Given the description of an element on the screen output the (x, y) to click on. 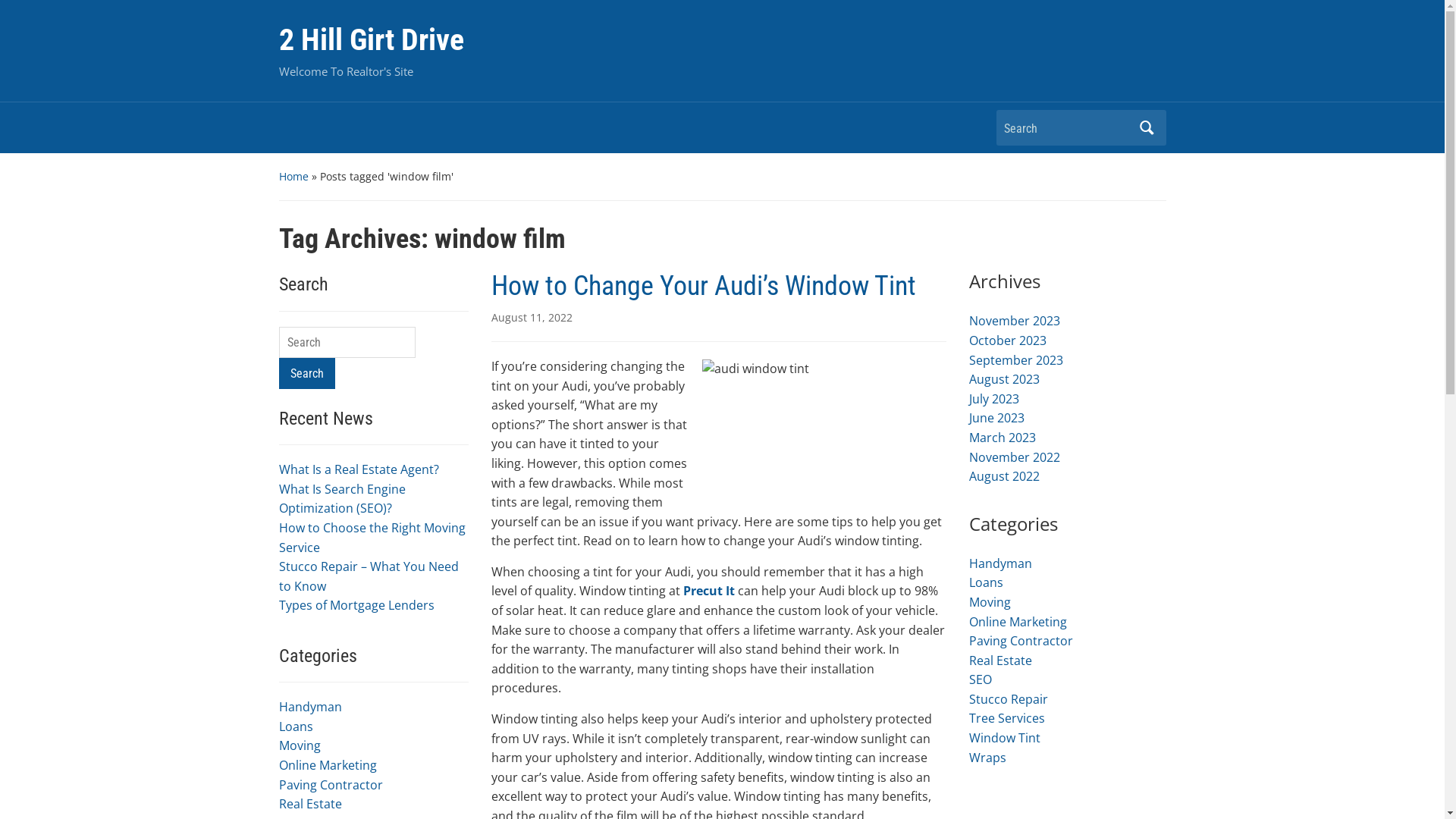
Window Tint Element type: text (1004, 737)
Wraps Element type: text (987, 757)
Stucco Repair Element type: text (1008, 698)
Search Element type: text (1146, 127)
July 2023 Element type: text (994, 398)
Moving Element type: text (989, 601)
June 2023 Element type: text (996, 417)
Loans Element type: text (296, 726)
Real Estate Element type: text (1000, 660)
Online Marketing Element type: text (327, 764)
October 2023 Element type: text (1007, 340)
What Is a Real Estate Agent? Element type: text (359, 469)
Search Element type: text (307, 373)
August 2023 Element type: text (1004, 378)
March 2023 Element type: text (1002, 437)
November 2023 Element type: text (1014, 320)
Home Element type: text (293, 176)
Handyman Element type: text (310, 706)
August 11, 2022 Element type: text (531, 317)
How to Choose the Right Moving Service Element type: text (372, 537)
August 2022 Element type: text (1004, 475)
Paving Contractor Element type: text (1021, 640)
SEO Element type: text (980, 679)
Moving Element type: text (299, 745)
November 2022 Element type: text (1014, 456)
Handyman Element type: text (1000, 563)
What Is Search Engine Optimization (SEO)? Element type: text (342, 498)
Online Marketing Element type: text (1017, 620)
Types of Mortgage Lenders Element type: text (356, 604)
Precut It Element type: text (708, 590)
Real Estate Element type: text (310, 803)
September 2023 Element type: text (1016, 359)
Loans Element type: text (986, 582)
Tree Services Element type: text (1006, 717)
Paving Contractor Element type: text (330, 784)
2 Hill Girt Drive Element type: text (371, 39)
